Given the description of an element on the screen output the (x, y) to click on. 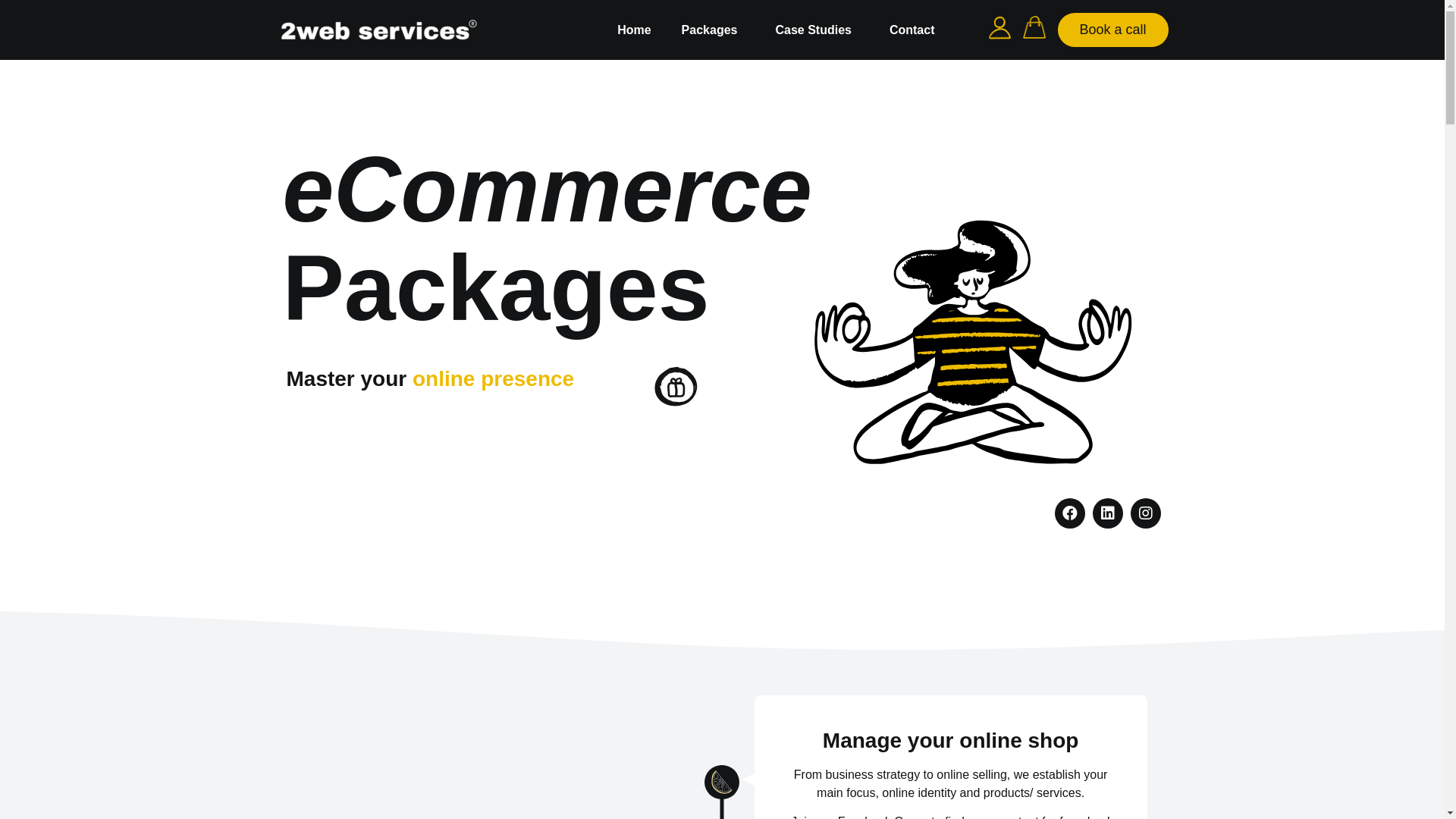
Packages Element type: text (713, 29)
Contact Element type: text (912, 29)
Case Studies Element type: text (816, 29)
Manage your online shop Element type: text (950, 740)
Home Element type: text (633, 29)
Book a call Element type: text (1112, 29)
